Given the description of an element on the screen output the (x, y) to click on. 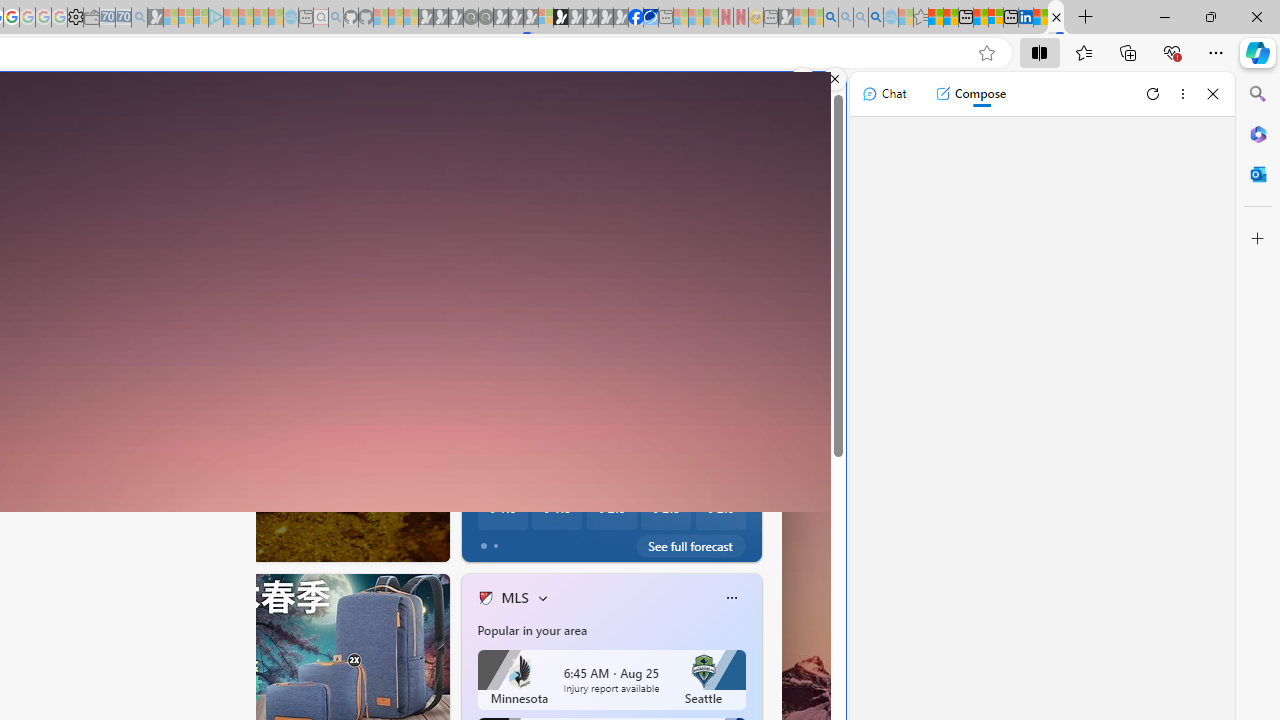
8 Things I Did to Lose 25 Pounds in 6 Months (758, 506)
AutomationID: tab-19 (133, 542)
Class: weather-current-precipitation-glyph (710, 508)
Aberdeen, Hong Kong SAR weather forecast | Microsoft Weather (950, 17)
See full forecast (690, 546)
